Given the description of an element on the screen output the (x, y) to click on. 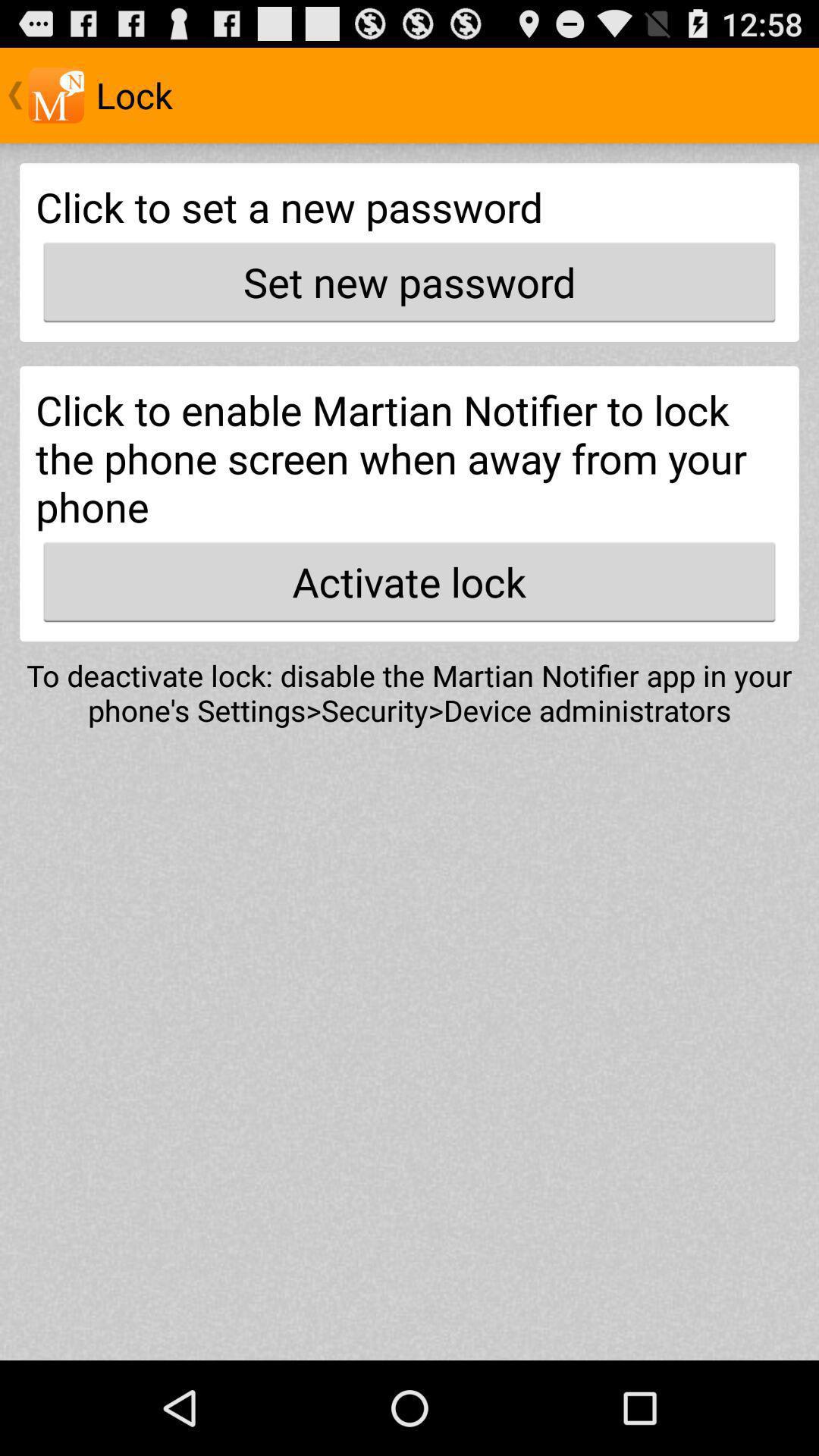
click the icon above to deactivate lock item (409, 581)
